Given the description of an element on the screen output the (x, y) to click on. 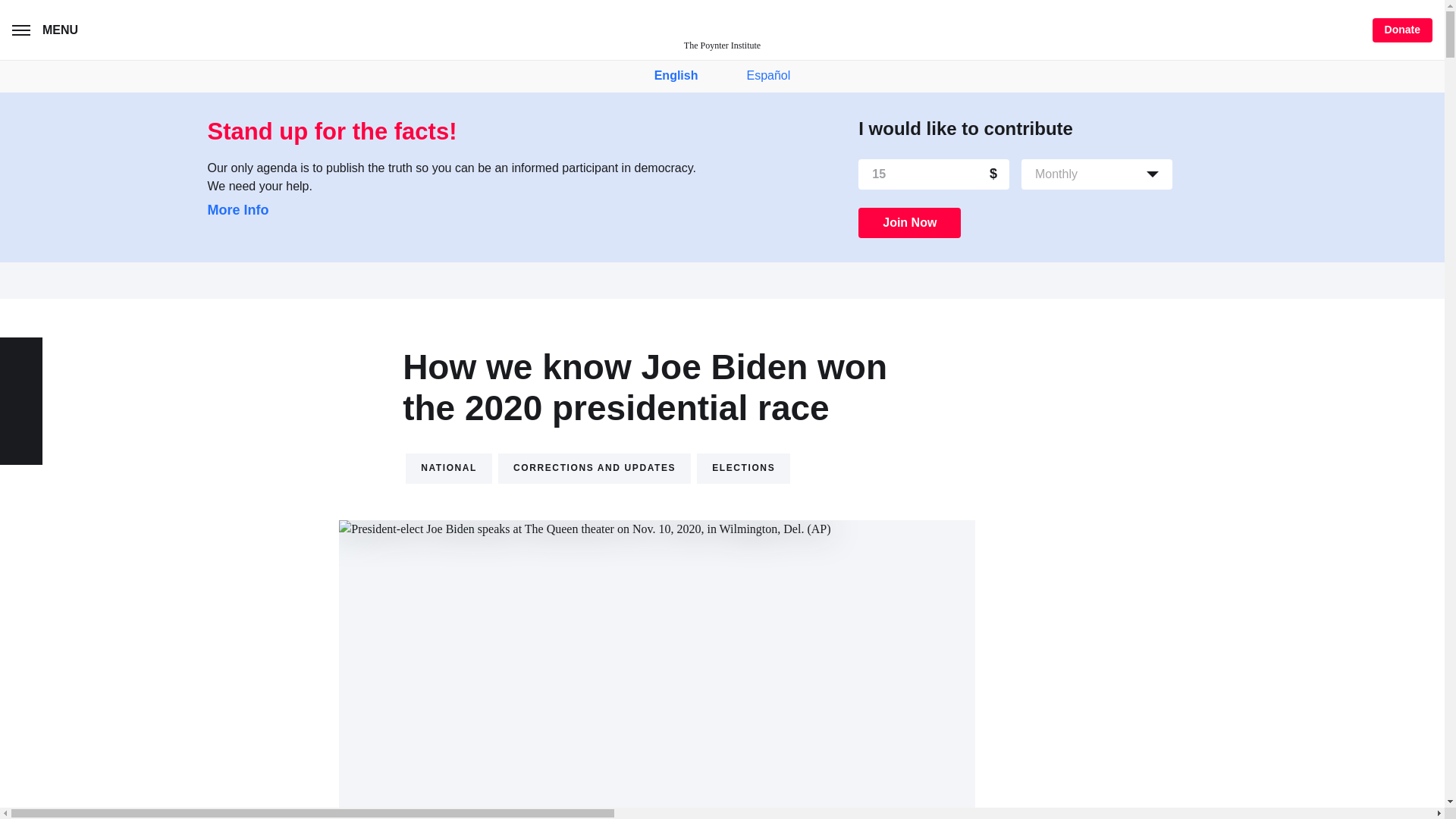
Elections (743, 468)
MENU (47, 30)
The Poynter Institute (721, 29)
Corrections and Updates (593, 468)
Donate (1402, 30)
Search (111, 31)
National (449, 468)
